Given the description of an element on the screen output the (x, y) to click on. 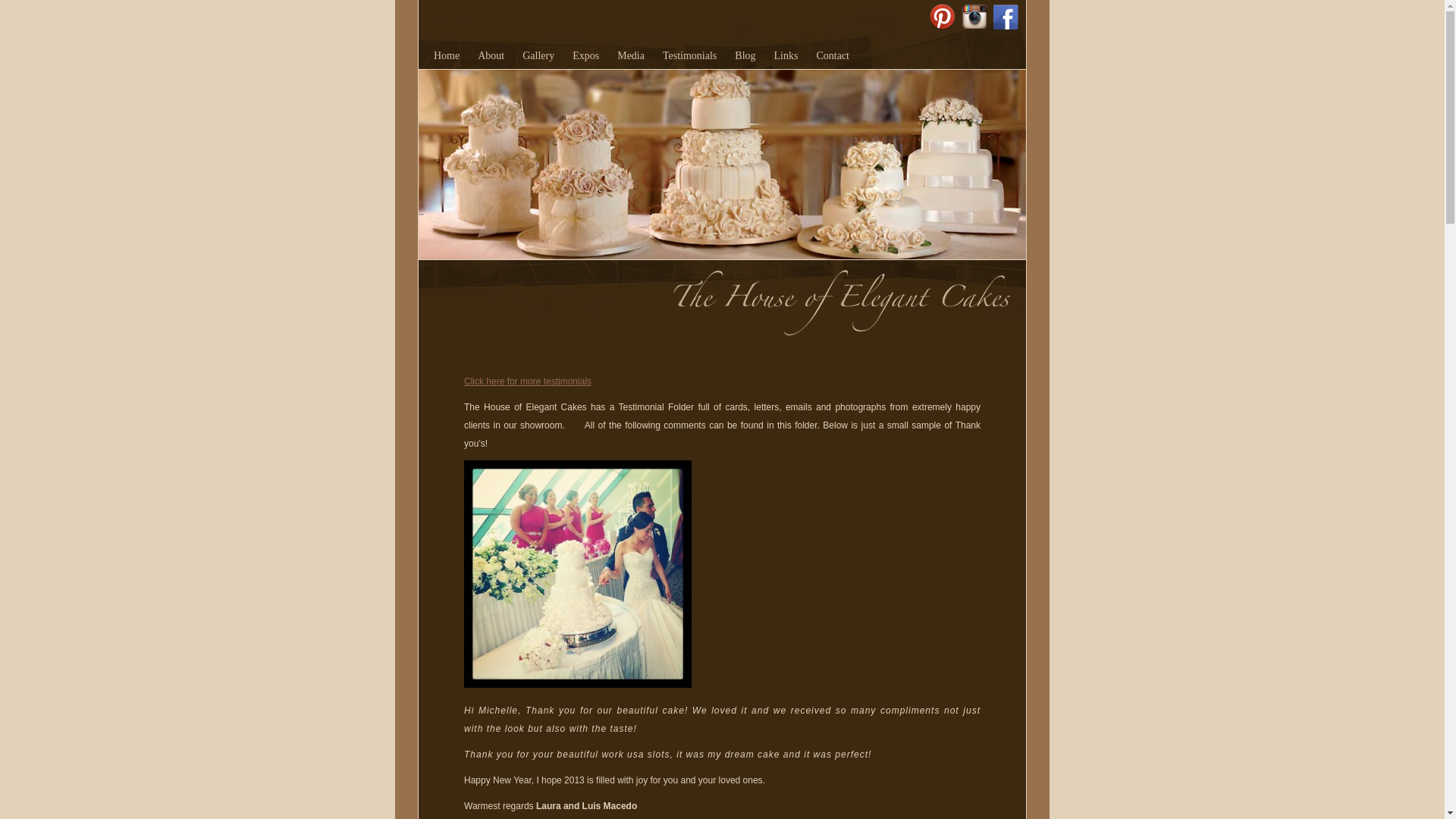
Laura's Cake Element type: hover (577, 573)
Home Element type: text (446, 56)
Contact Element type: text (832, 56)
Media Element type: text (630, 56)
facebook Element type: hover (1006, 7)
About Element type: text (490, 56)
Expos Element type: text (585, 56)
Testimonials Element type: text (689, 56)
Links Element type: text (786, 56)
usa slots Element type: text (648, 754)
Pinterest Element type: hover (942, 7)
Click here for more testimonials Element type: text (527, 381)
Gallery Element type: text (538, 56)
Blog Element type: text (744, 56)
Instagram Element type: hover (974, 7)
